Given the description of an element on the screen output the (x, y) to click on. 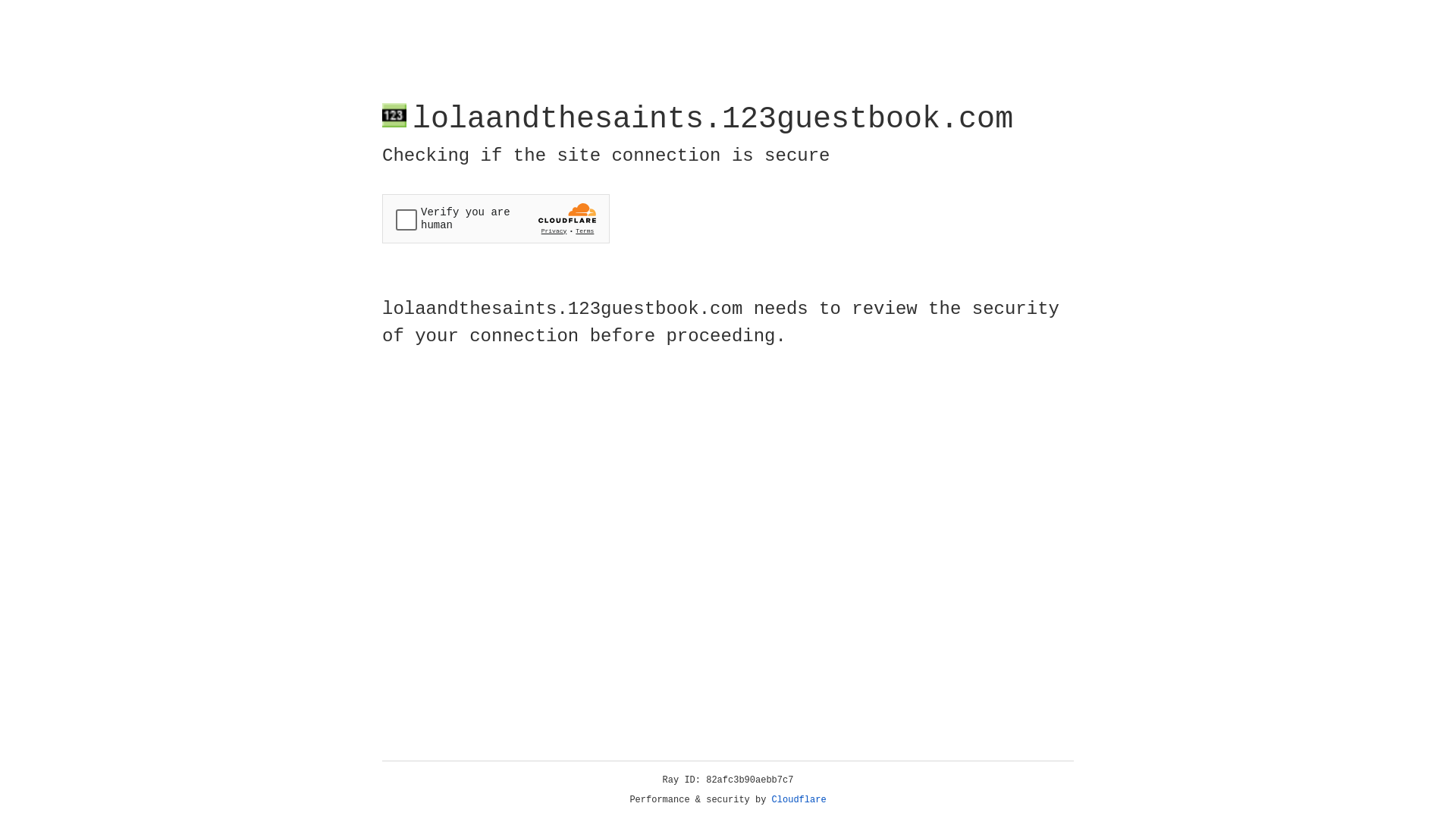
Widget containing a Cloudflare security challenge Element type: hover (495, 218)
Cloudflare Element type: text (798, 799)
